Given the description of an element on the screen output the (x, y) to click on. 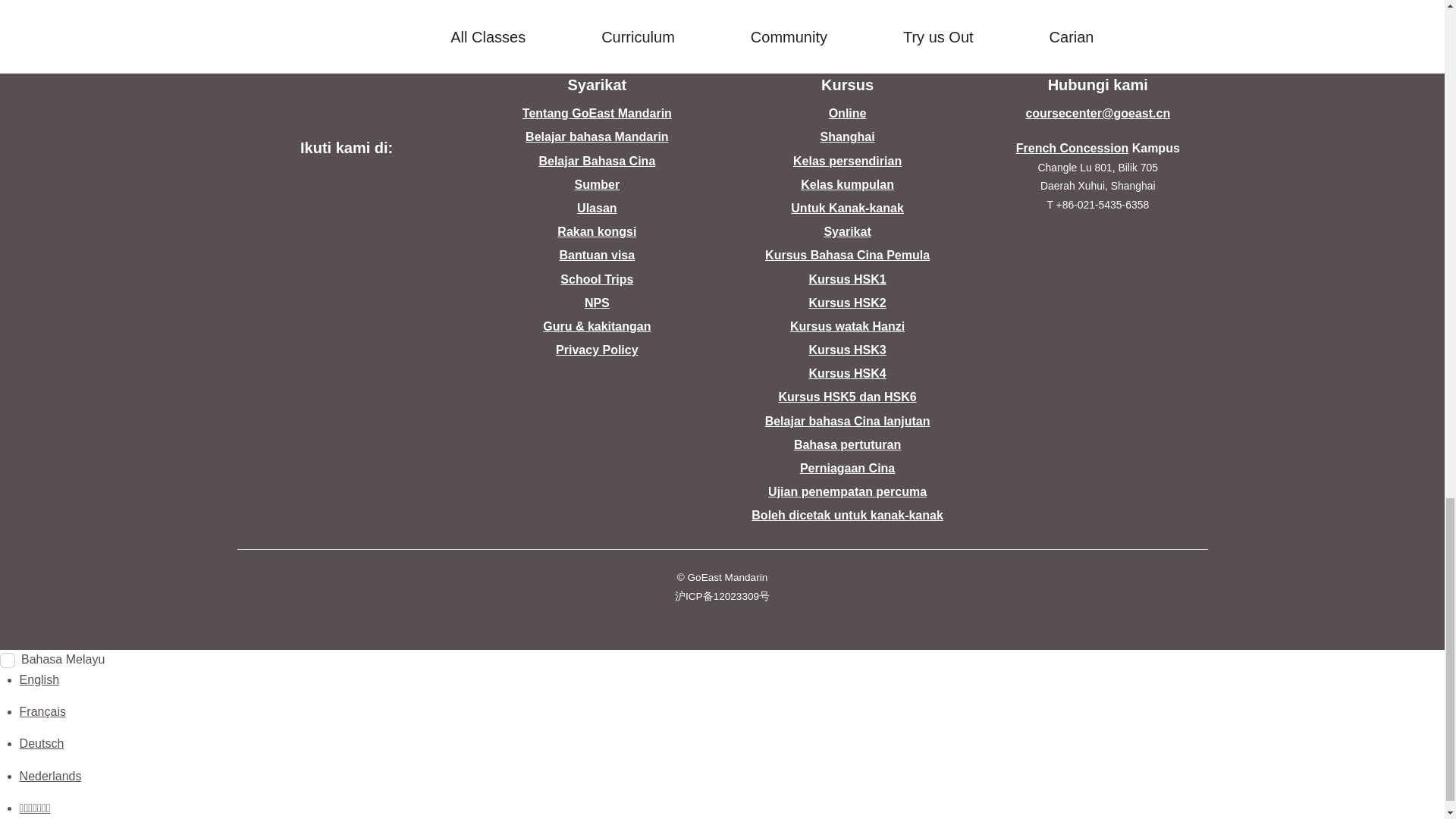
on (7, 660)
Language switcher : German (42, 743)
Language switcher : English (39, 679)
Language switcher : French (42, 711)
Language switcher : Dutch (50, 775)
Language switcher : Thai (35, 807)
